Given the description of an element on the screen output the (x, y) to click on. 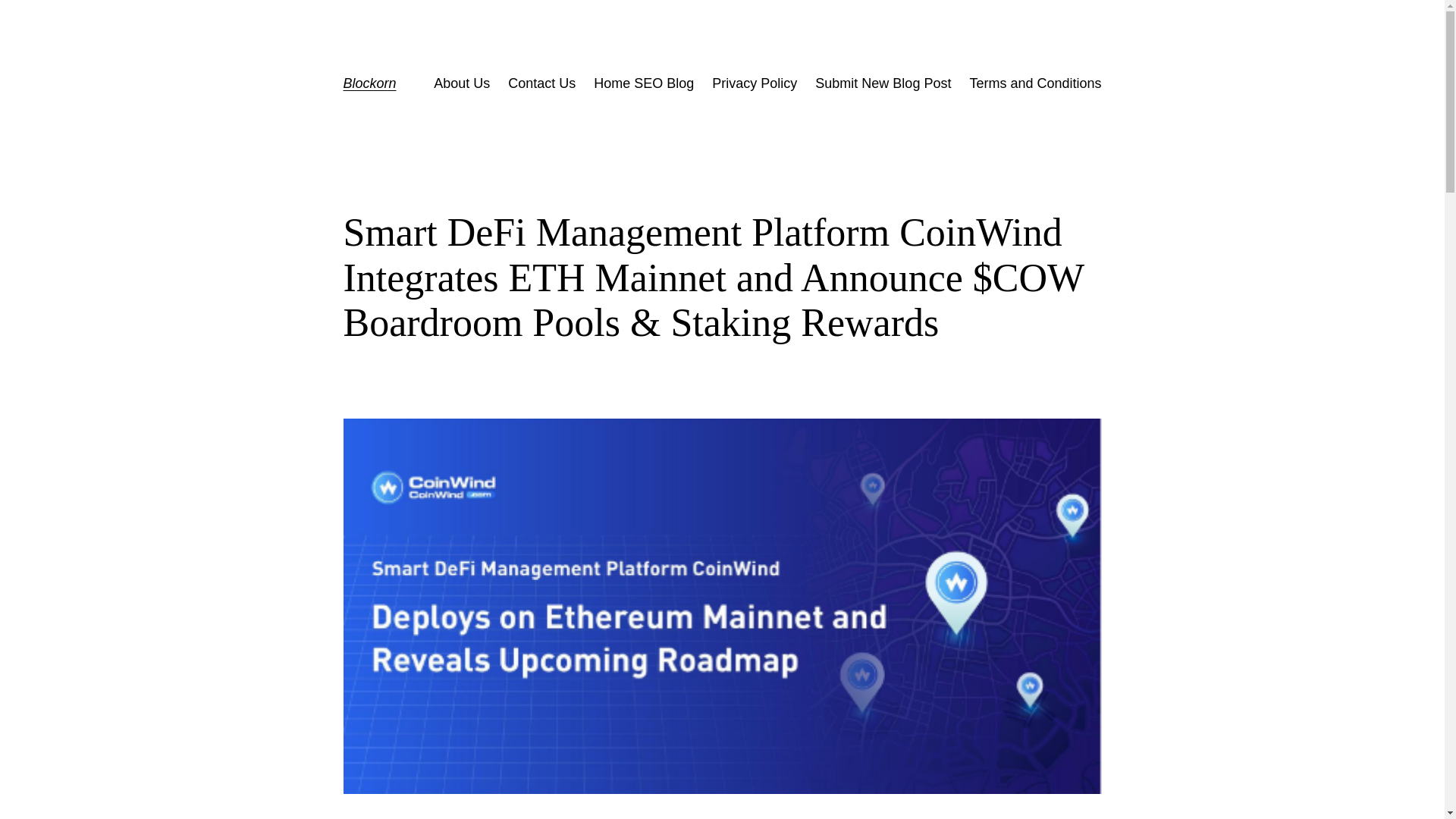
Privacy Policy (753, 83)
Terms and Conditions (1034, 83)
Home SEO Blog (644, 83)
About Us (461, 83)
Contact Us (541, 83)
Submit New Blog Post (882, 83)
Blockorn (369, 83)
